Given the description of an element on the screen output the (x, y) to click on. 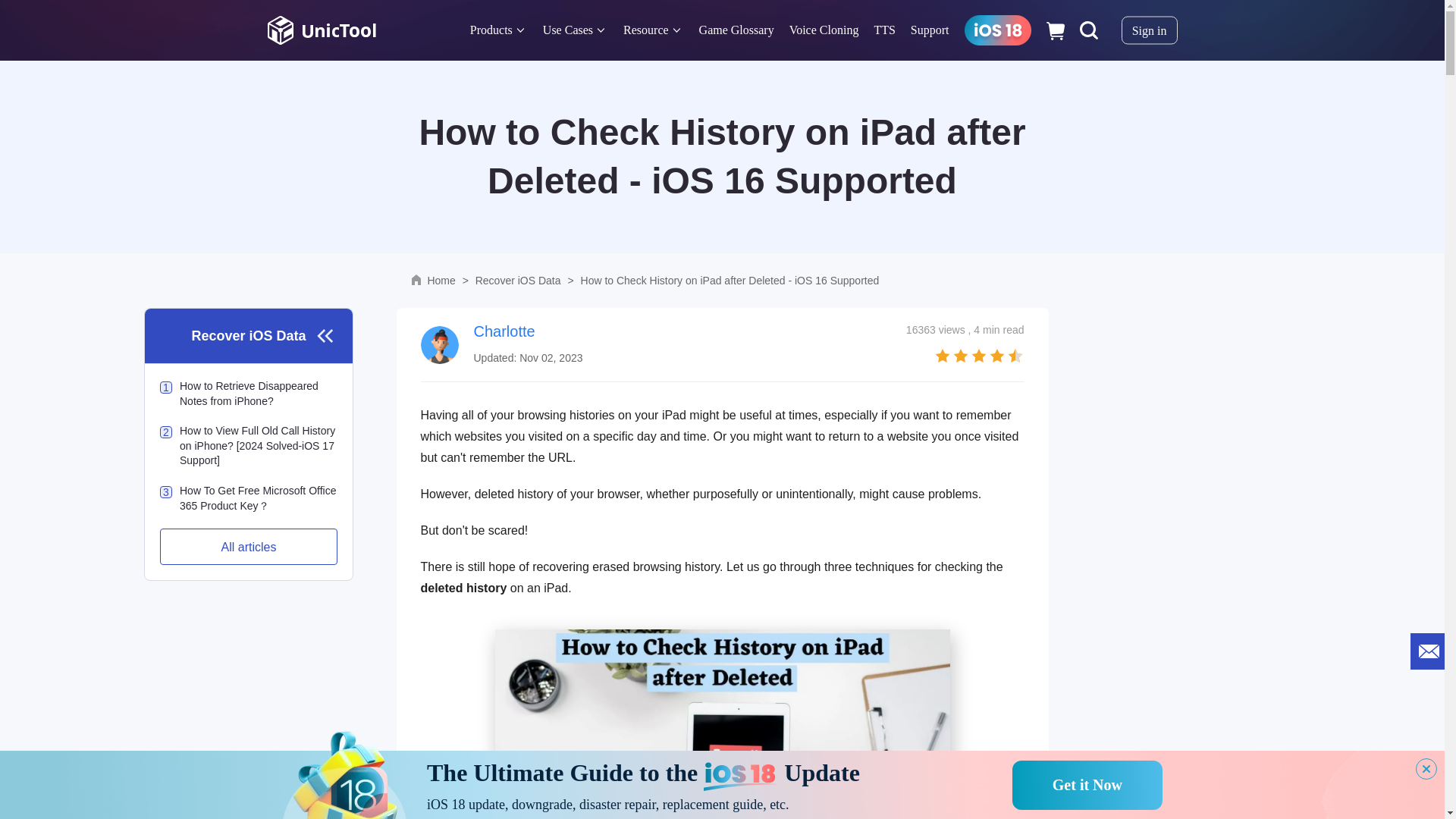
Voice Cloning (824, 29)
Support (930, 29)
Use Cases (567, 29)
Game Glossary (736, 29)
Resource (645, 29)
TTS (884, 29)
cookie policy (943, 802)
Products (491, 29)
